Given the description of an element on the screen output the (x, y) to click on. 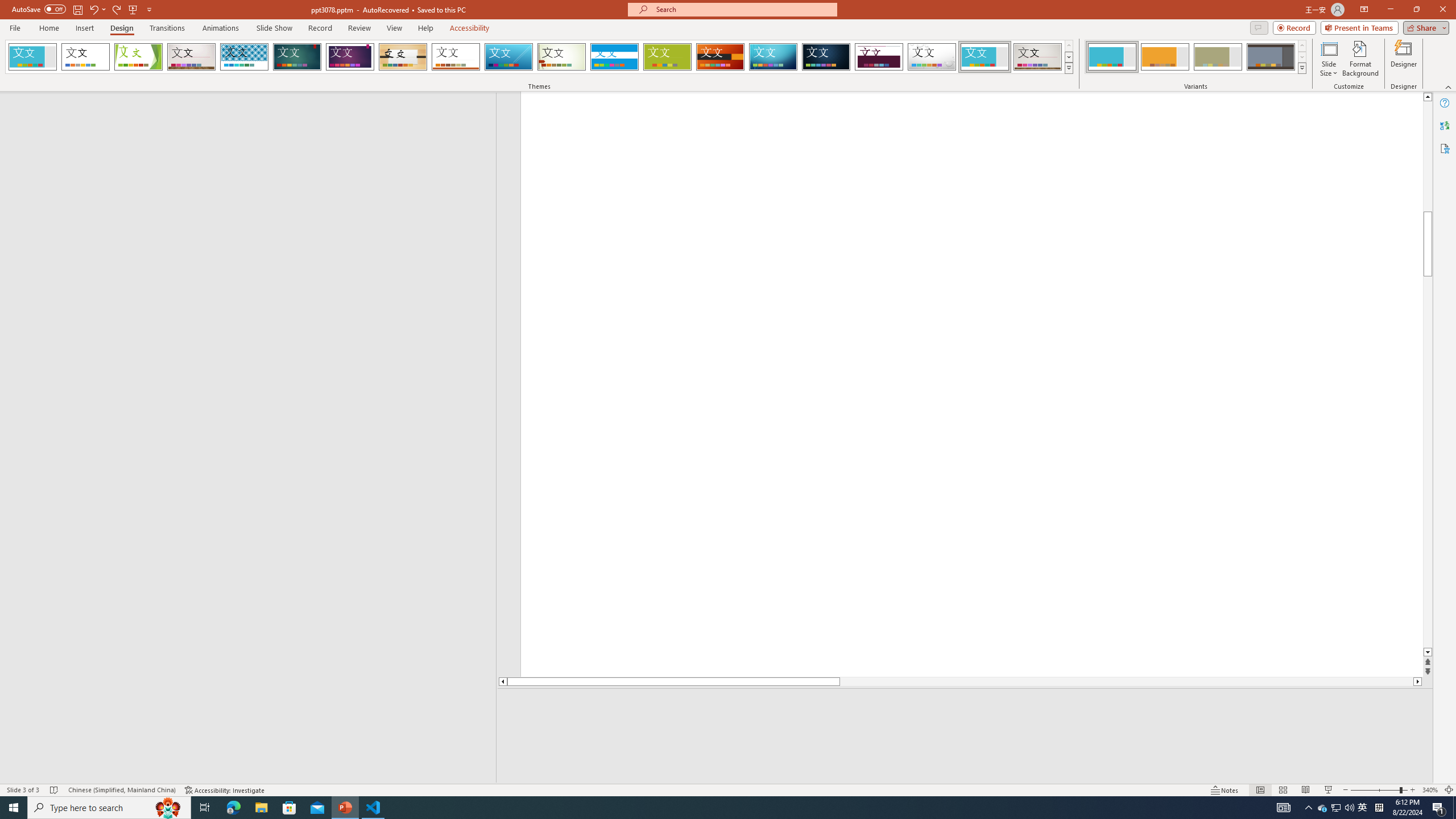
Dividend (879, 56)
Basis (667, 56)
Berlin (720, 56)
Gallery (1037, 56)
An abstract genetic concept (845, 383)
